Given the description of an element on the screen output the (x, y) to click on. 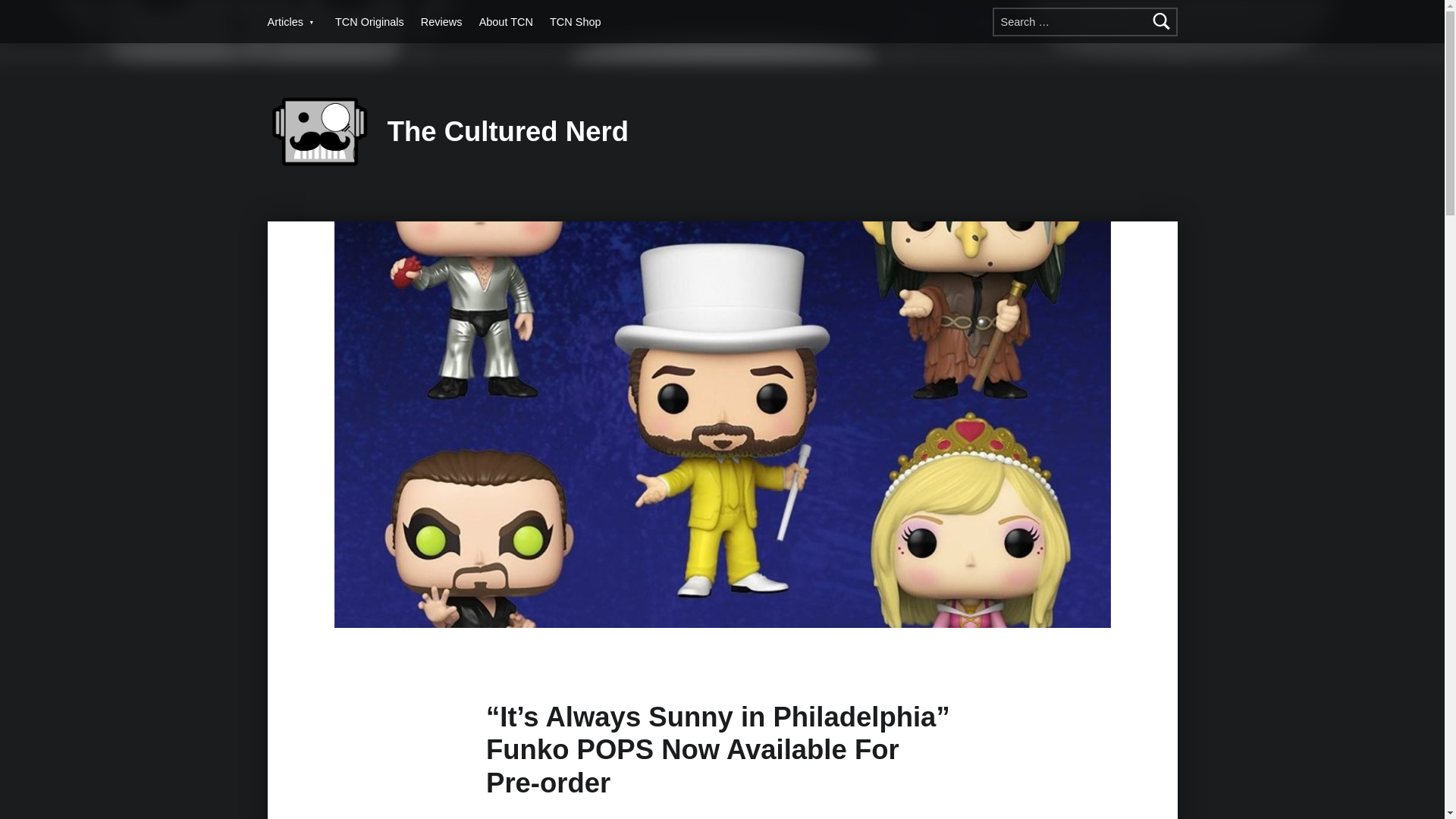
TCN Originals (369, 21)
The Cultured Nerd (507, 131)
Search (1162, 21)
Search (1162, 21)
Reviews (441, 21)
TCN Shop (575, 21)
About TCN (505, 21)
Search (1162, 21)
Articles (291, 21)
